Given the description of an element on the screen output the (x, y) to click on. 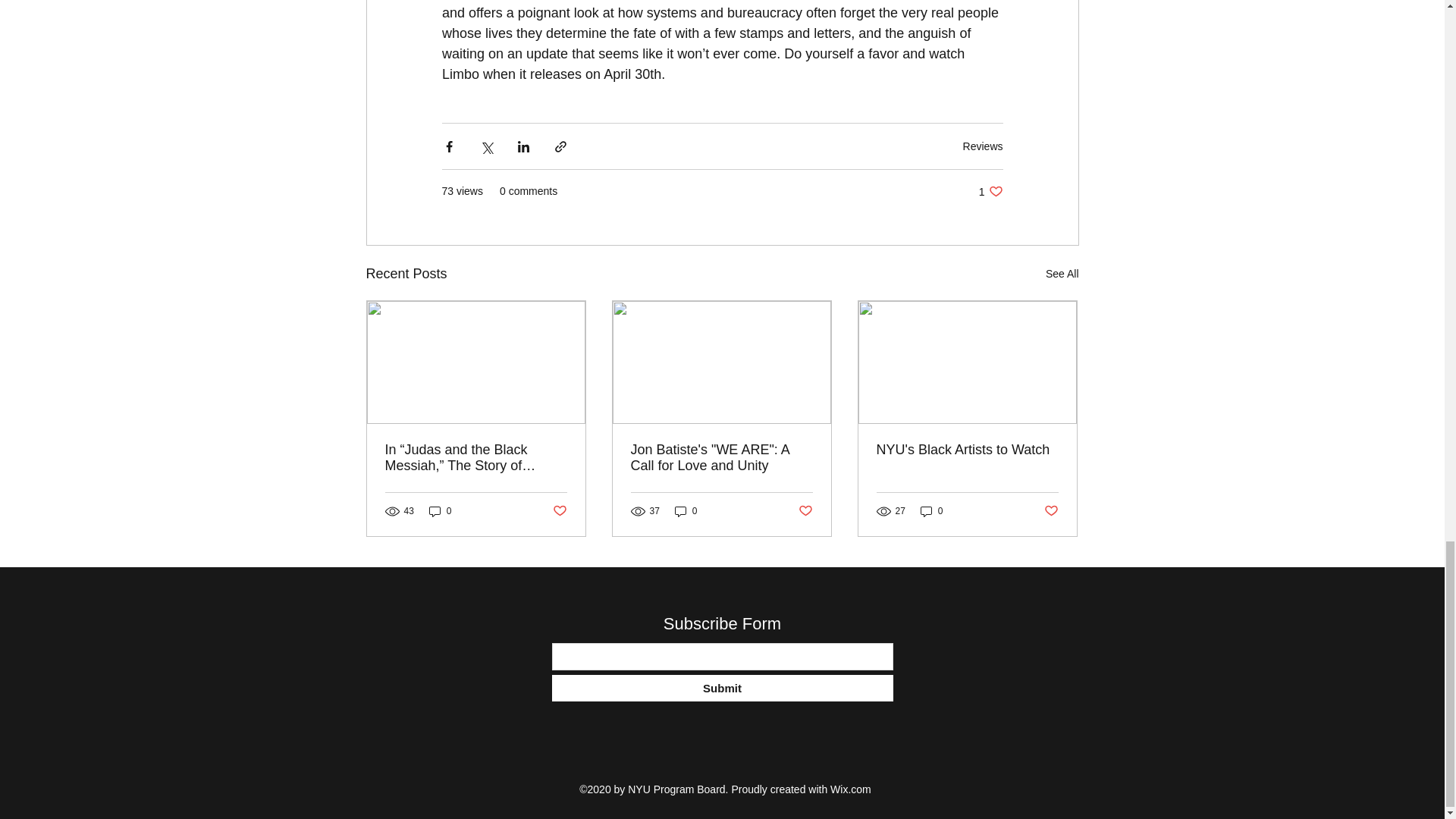
Reviews (982, 146)
